Given the description of an element on the screen output the (x, y) to click on. 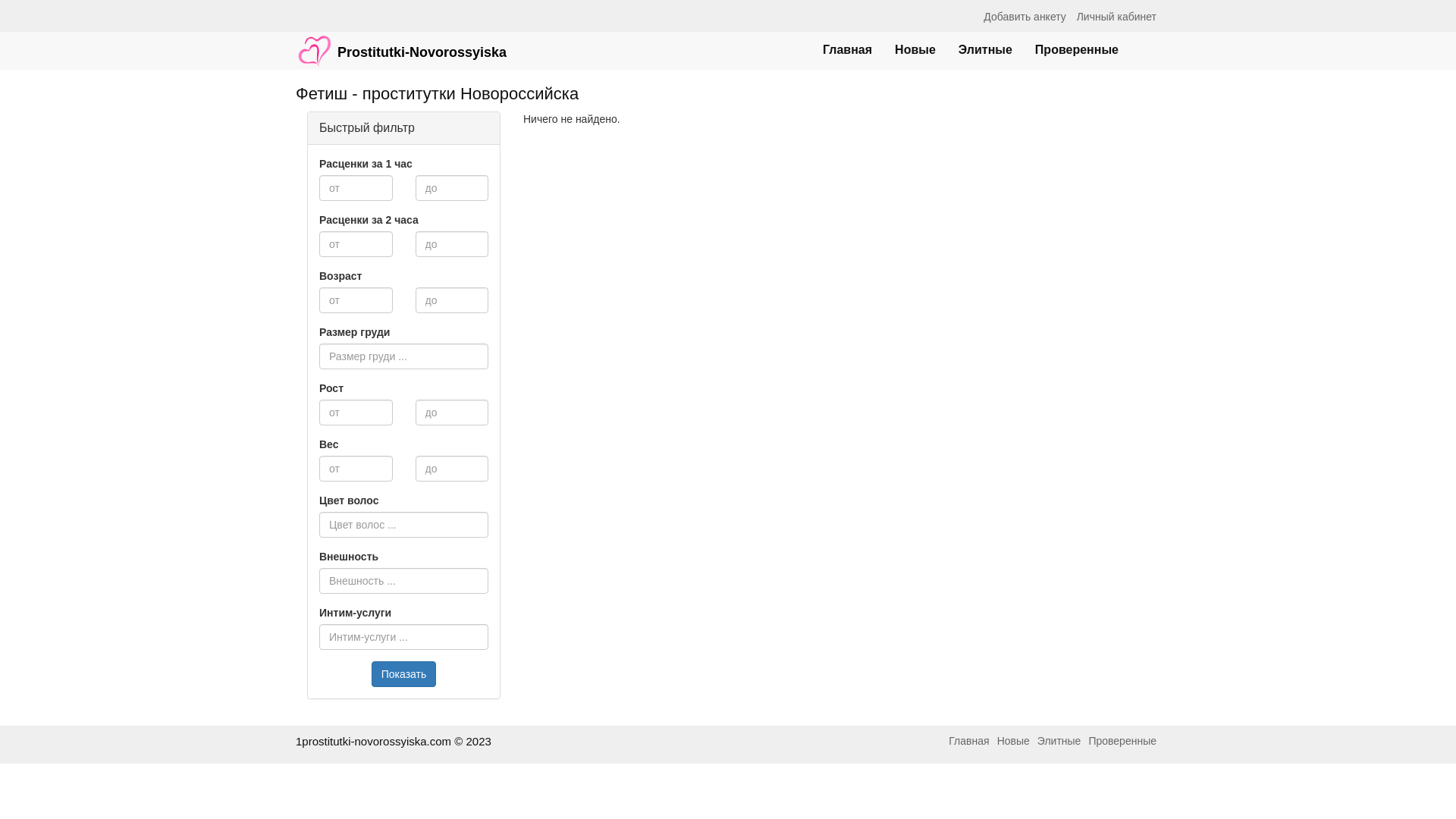
Prostitutki-Novorossyiska Element type: text (400, 43)
